Given the description of an element on the screen output the (x, y) to click on. 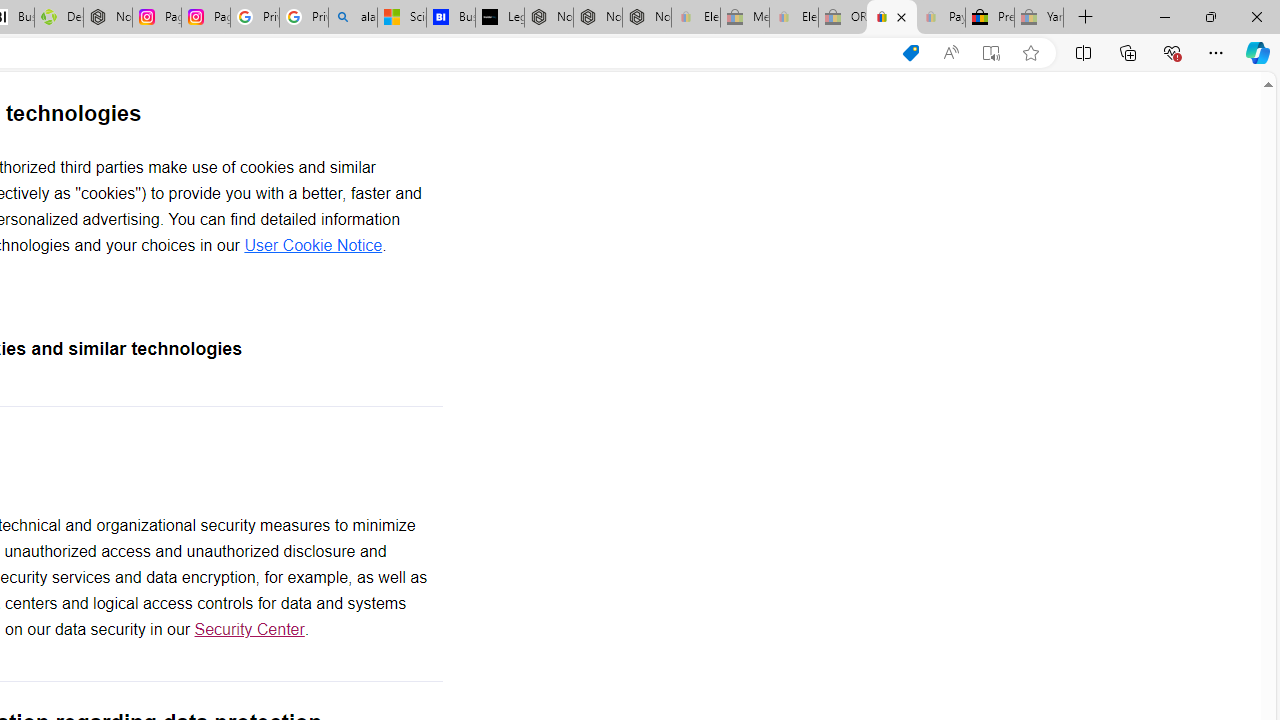
Security Center - opens in new window or tab (249, 629)
User Cookie Notice (313, 245)
